Given the description of an element on the screen output the (x, y) to click on. 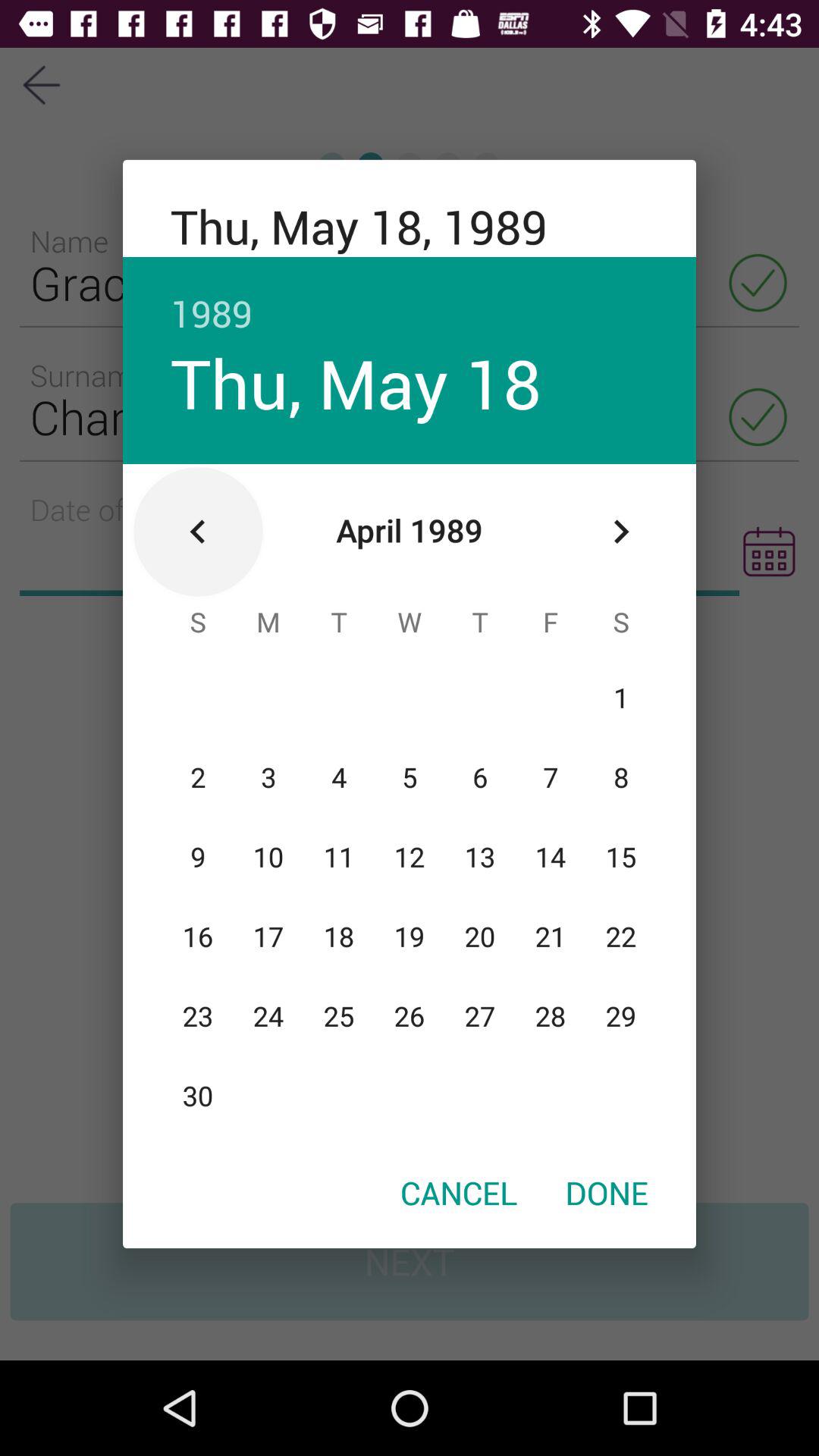
flip to the cancel icon (458, 1192)
